Given the description of an element on the screen output the (x, y) to click on. 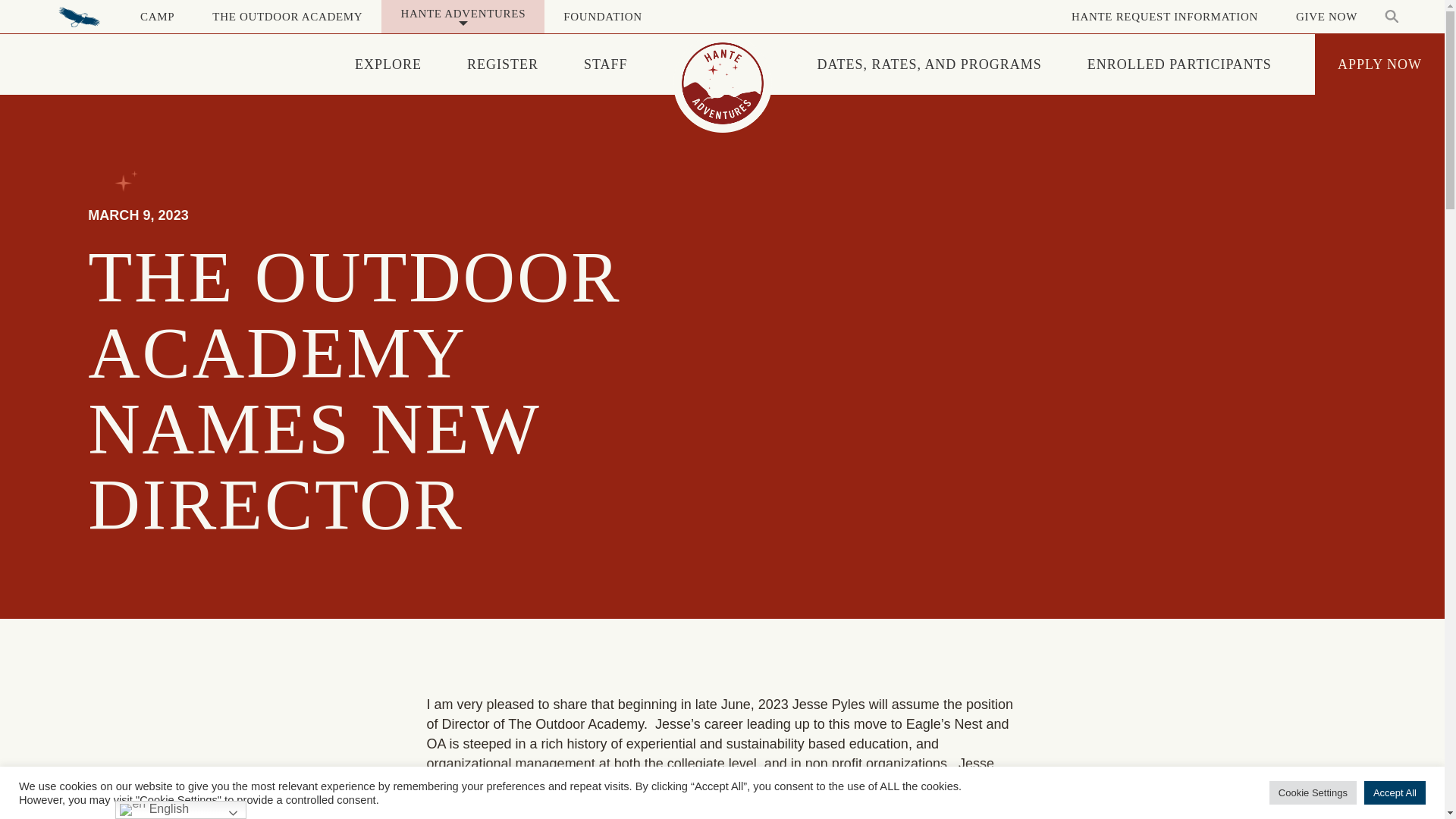
GIVE NOW (1325, 16)
HANTE ADVENTURES (462, 16)
DATES, RATES, AND PROGRAMS (929, 64)
STAFF (605, 64)
HANTE REQUEST INFORMATION (1164, 16)
Hante Adventures (721, 83)
EAGLE'S NEST FOUNDATION (78, 16)
FOUNDATION (602, 16)
REGISTER (502, 64)
THE OUTDOOR ACADEMY (287, 16)
